Given the description of an element on the screen output the (x, y) to click on. 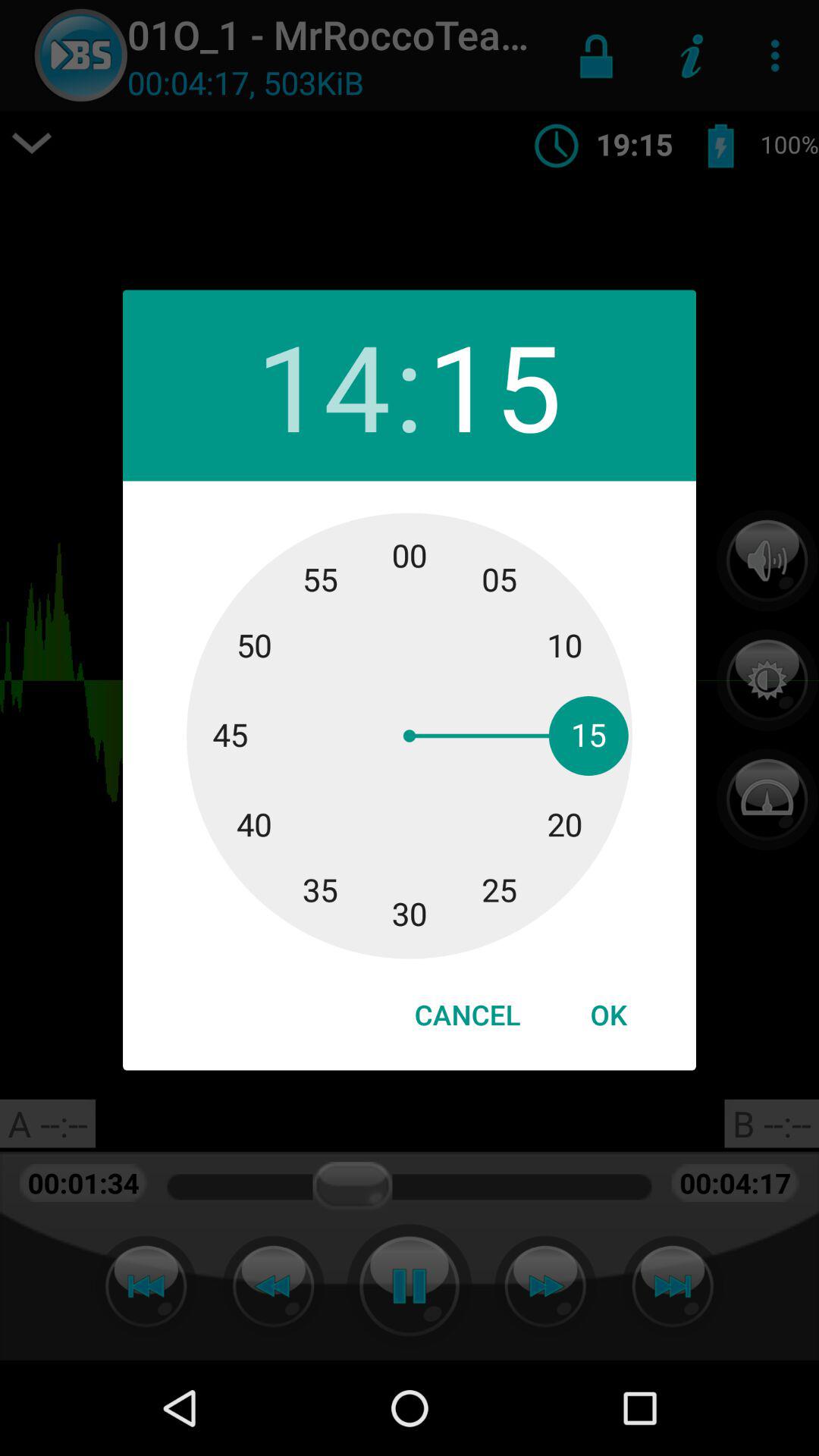
launch the item to the right of cancel item (608, 1014)
